Given the description of an element on the screen output the (x, y) to click on. 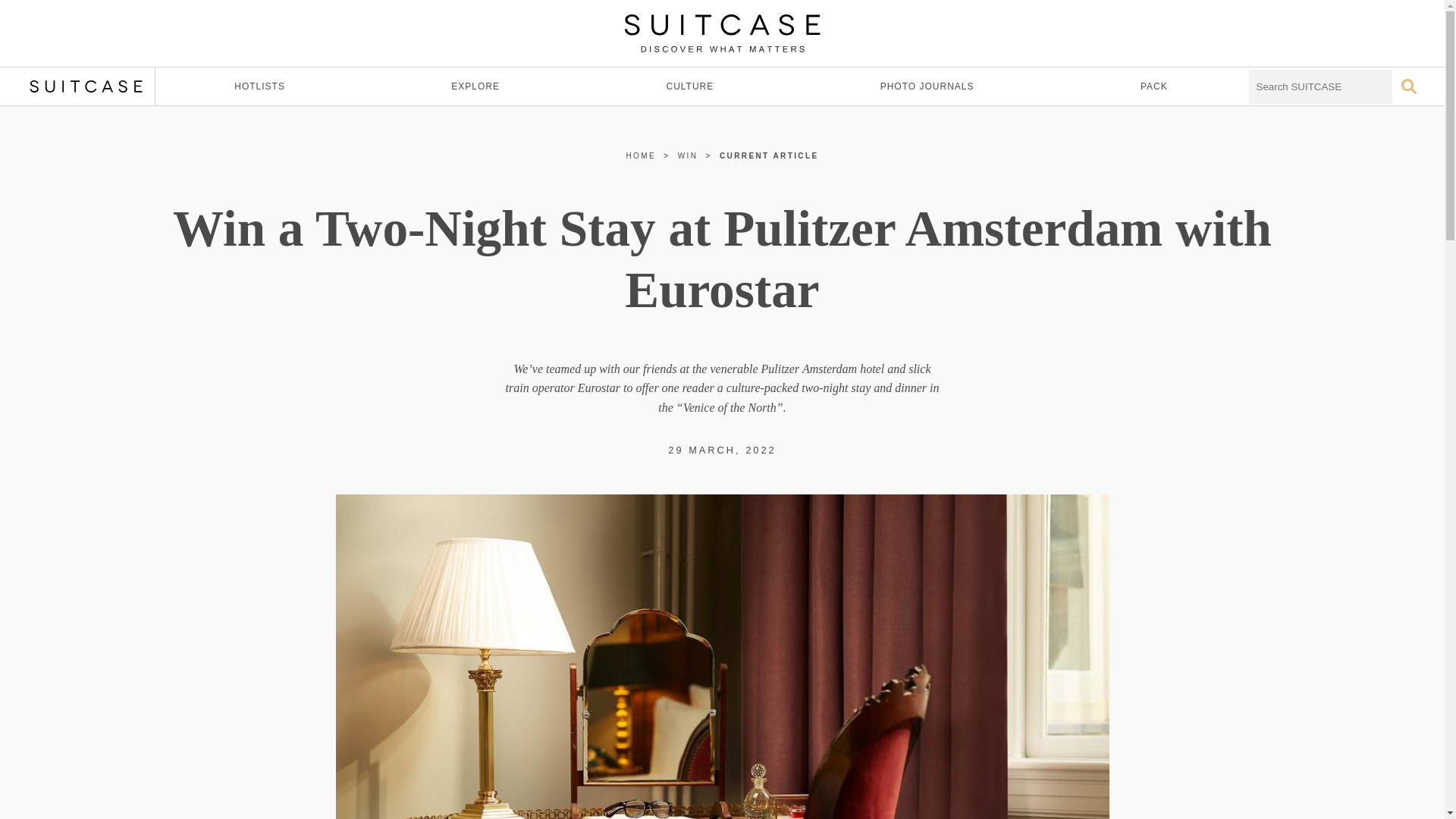
PHOTO JOURNALS (927, 85)
HOME (641, 155)
PACK (1153, 85)
CURRENT ARTICLE (768, 155)
EXPLORE (475, 85)
WIN (688, 155)
HOTLISTS (259, 85)
CULTURE (689, 85)
